Given the description of an element on the screen output the (x, y) to click on. 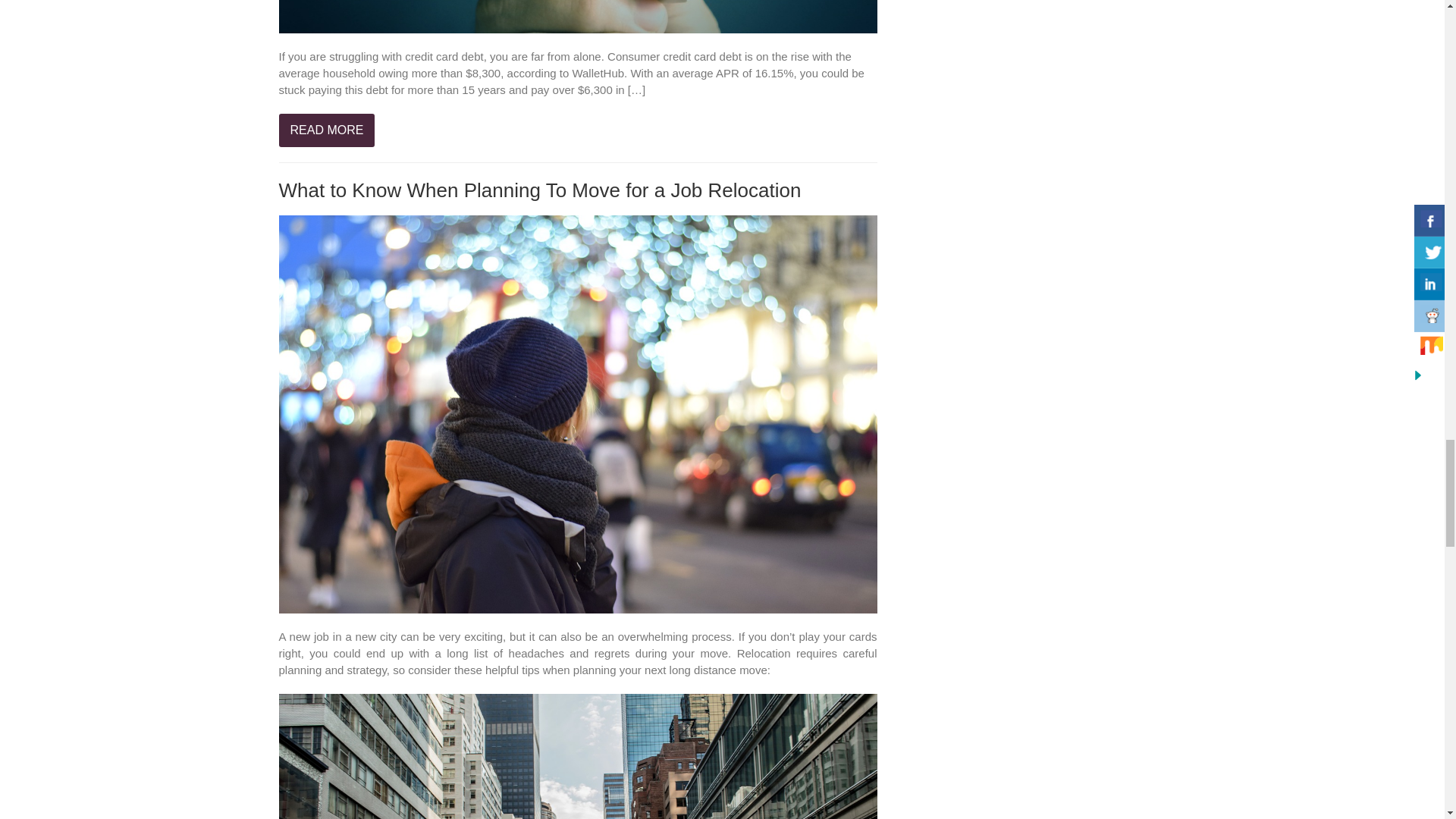
READ MORE (327, 130)
What to Know When Planning To Move for a Job Relocation (540, 190)
long distance move (718, 669)
